Given the description of an element on the screen output the (x, y) to click on. 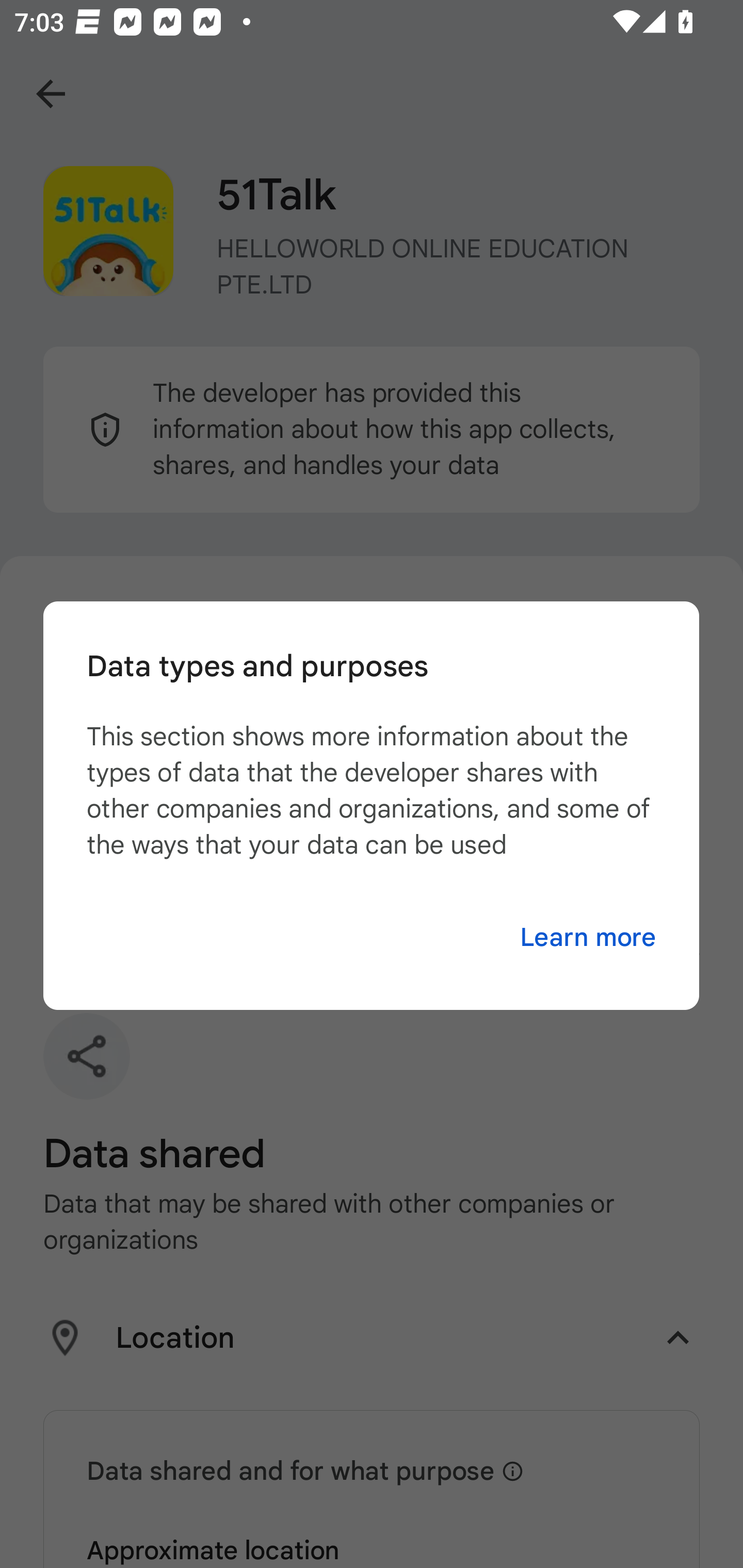
Learn more (588, 937)
